Given the description of an element on the screen output the (x, y) to click on. 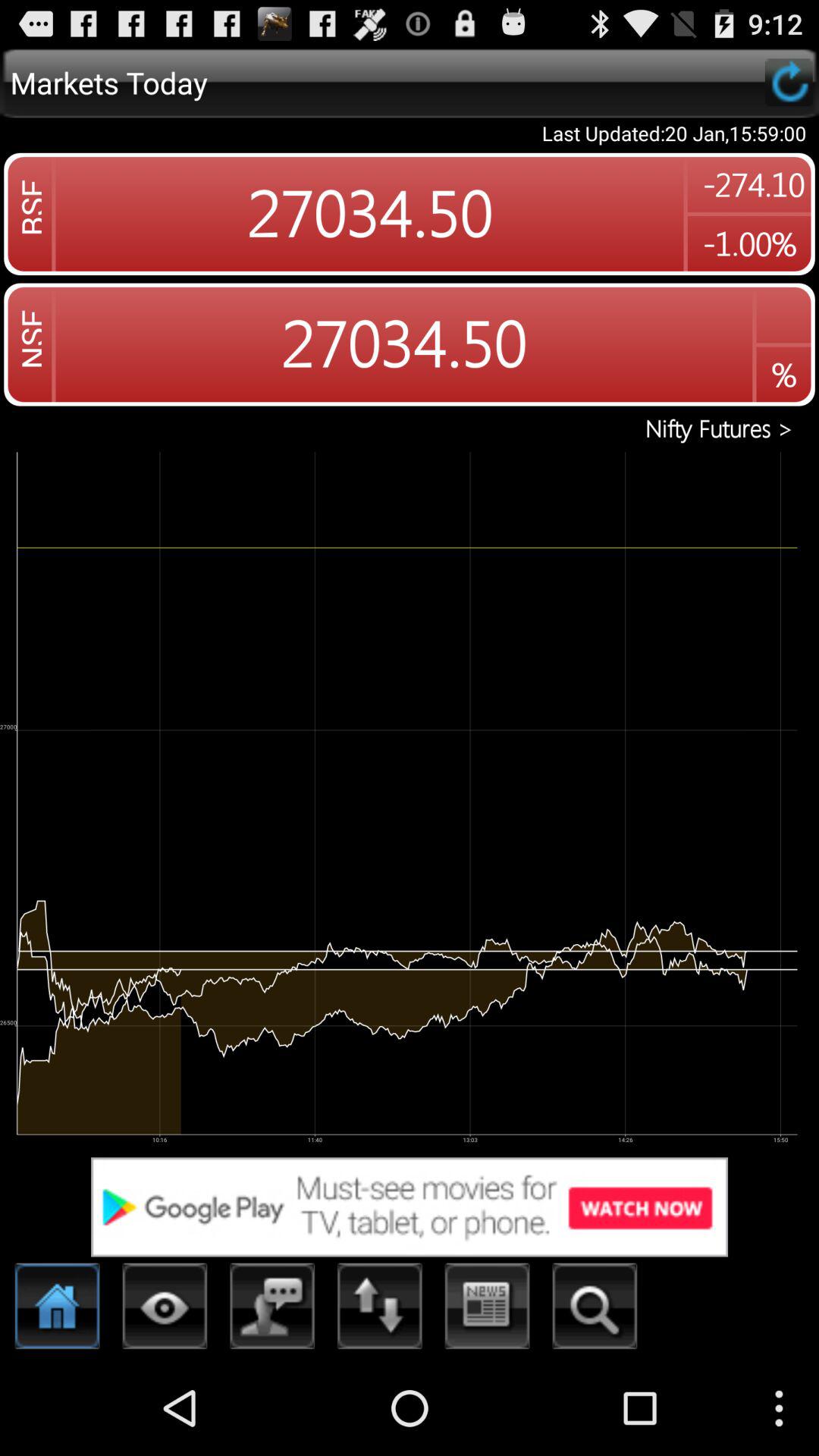
search (594, 1310)
